Given the description of an element on the screen output the (x, y) to click on. 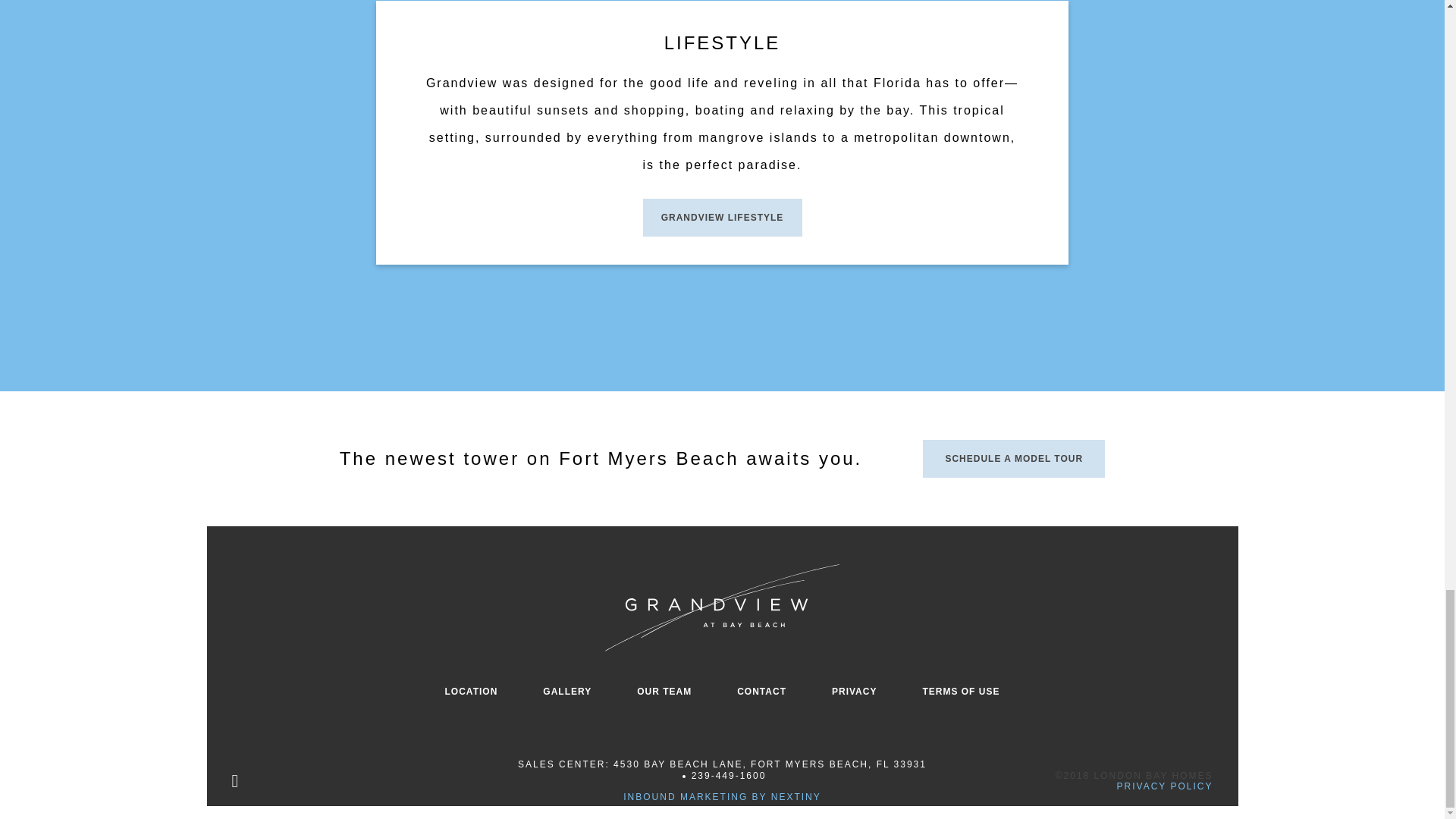
SCHEDULE A MODEL TOUR (1014, 458)
TERMS OF USE (959, 691)
CONTACT (761, 691)
PRIVACY (853, 691)
LOCATION (471, 691)
GRANDVIEW LIFESTYLE (722, 217)
GALLERY (567, 691)
OUR TEAM (664, 691)
